Given the description of an element on the screen output the (x, y) to click on. 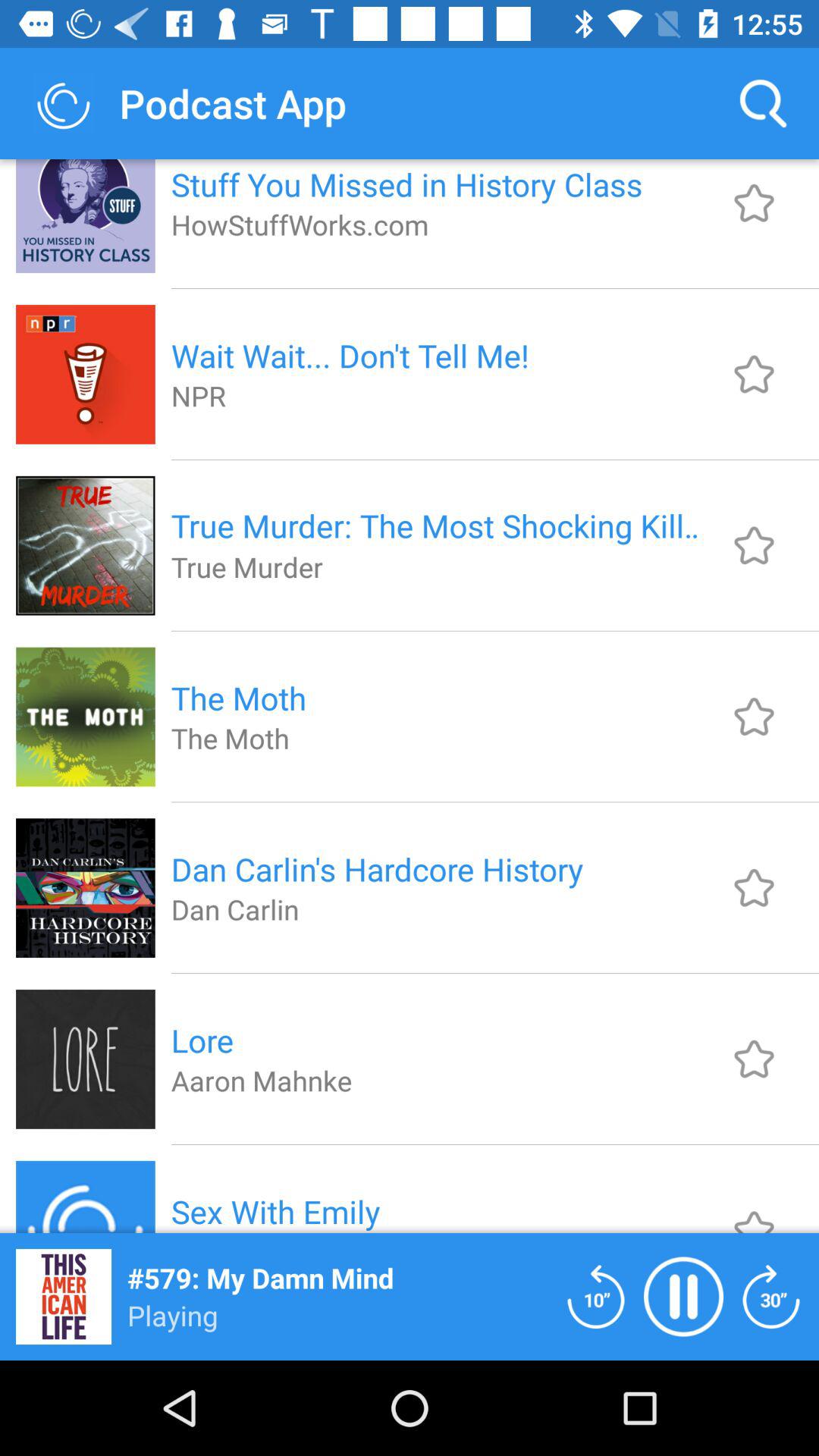
go back 10 seconds (595, 1296)
